Given the description of an element on the screen output the (x, y) to click on. 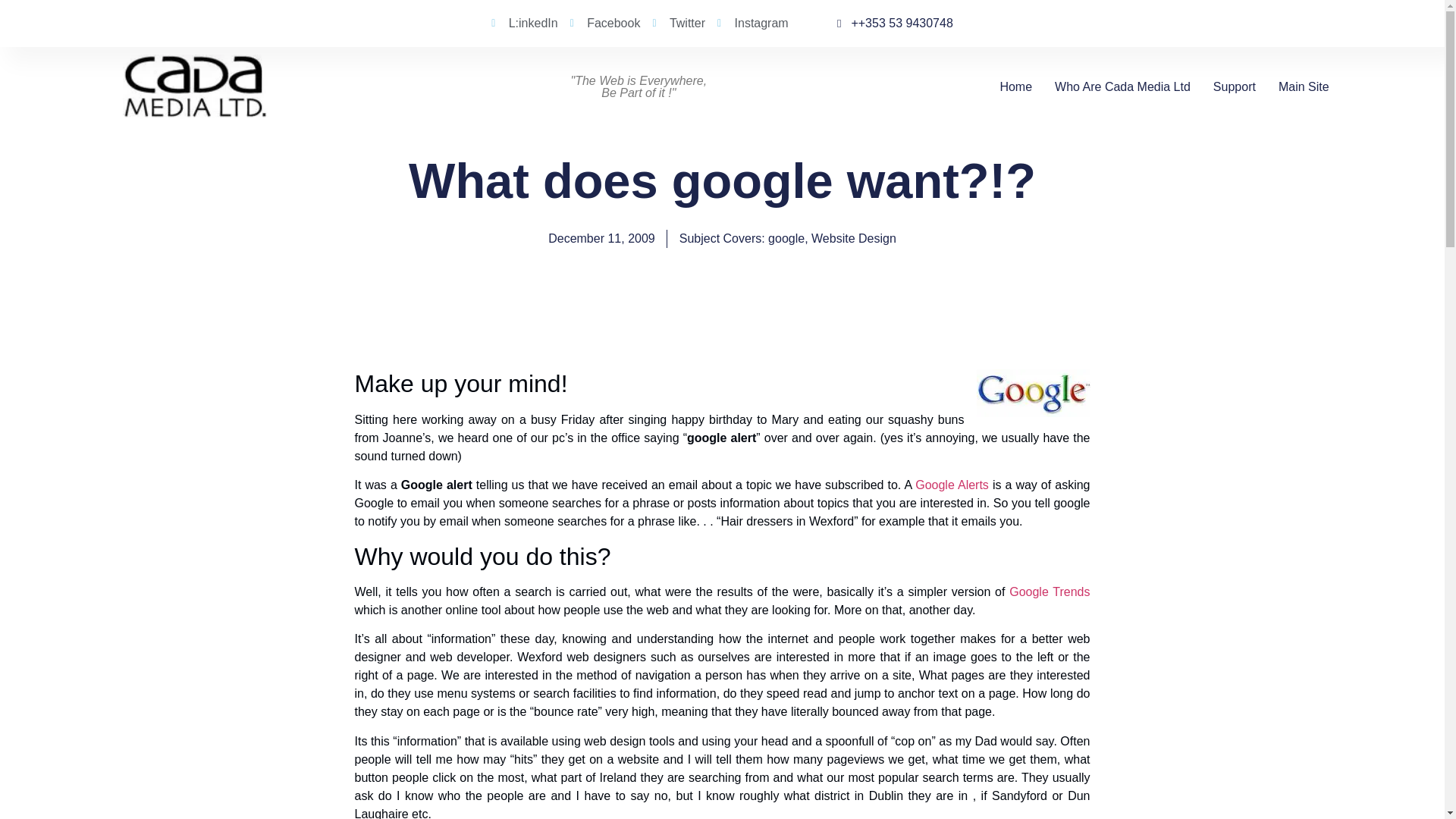
Instagram (753, 23)
Google Trends (1049, 591)
December 11, 2009 (601, 239)
Google Trends (1049, 591)
google-logo (1033, 392)
Google Alerts (951, 484)
Home (1015, 86)
Who Are Cada Media Ltd (1122, 86)
Support (1233, 86)
Facebook (605, 23)
Google Alerts (951, 484)
google (786, 237)
Twitter (678, 23)
Website Design (853, 237)
Main Site (1303, 86)
